Given the description of an element on the screen output the (x, y) to click on. 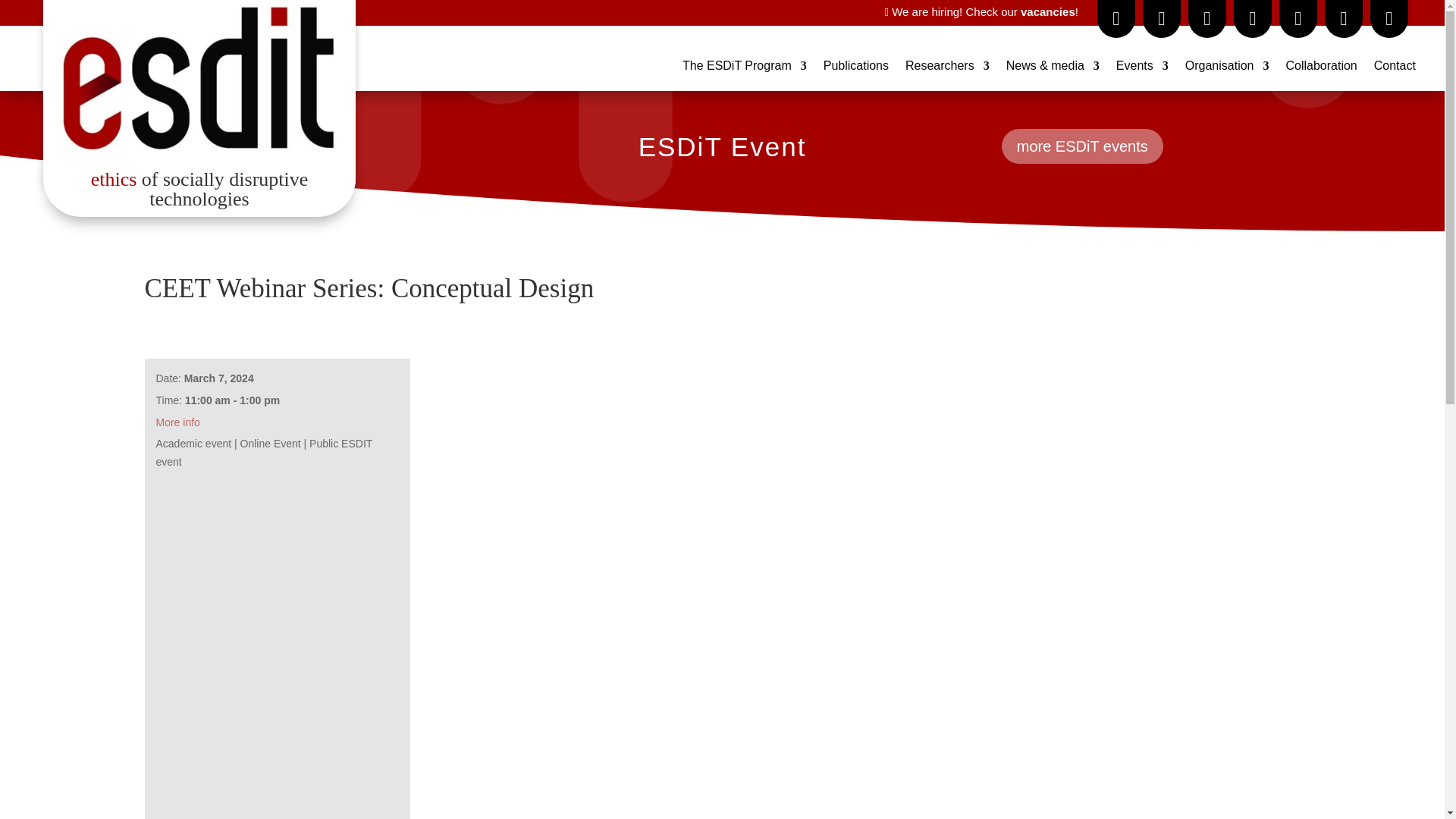
X (1343, 18)
Apple Podcast (1116, 18)
vacancies (1047, 11)
LinkedIn (1252, 18)
Spotify (1298, 18)
ethics of socially disruptive technologies (199, 189)
Events (1142, 68)
Google podcast (1206, 18)
esdit-logo-cropped (199, 78)
YouTube (1388, 18)
